Given the description of an element on the screen output the (x, y) to click on. 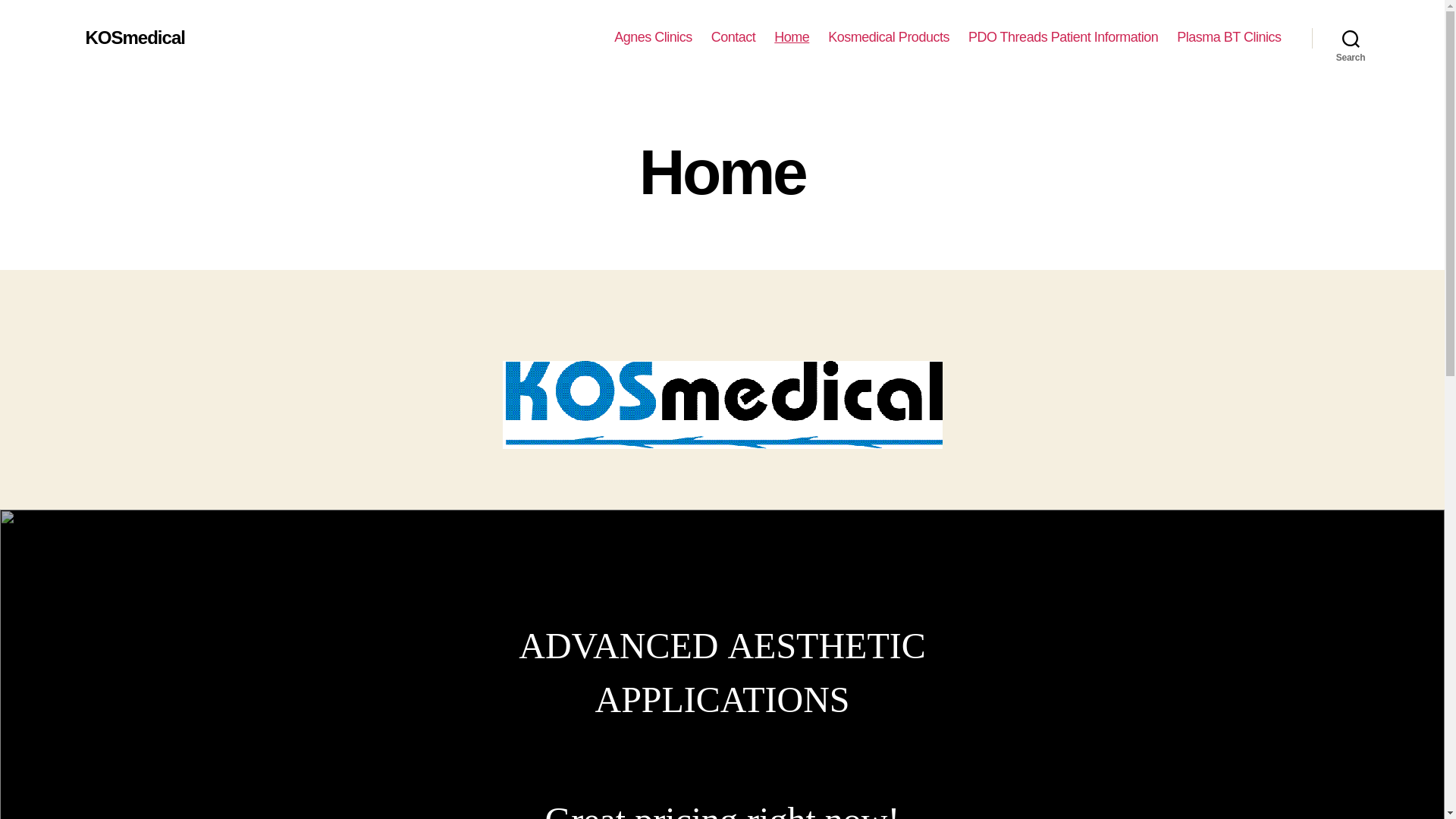
Plasma BT Clinics Element type: text (1228, 37)
Search Element type: text (1350, 37)
Contact Element type: text (733, 37)
Home Element type: text (791, 37)
Agnes Clinics Element type: text (653, 37)
Kosmedical Products Element type: text (888, 37)
PDO Threads Patient Information Element type: text (1062, 37)
KOSmedical Element type: text (134, 37)
